Given the description of an element on the screen output the (x, y) to click on. 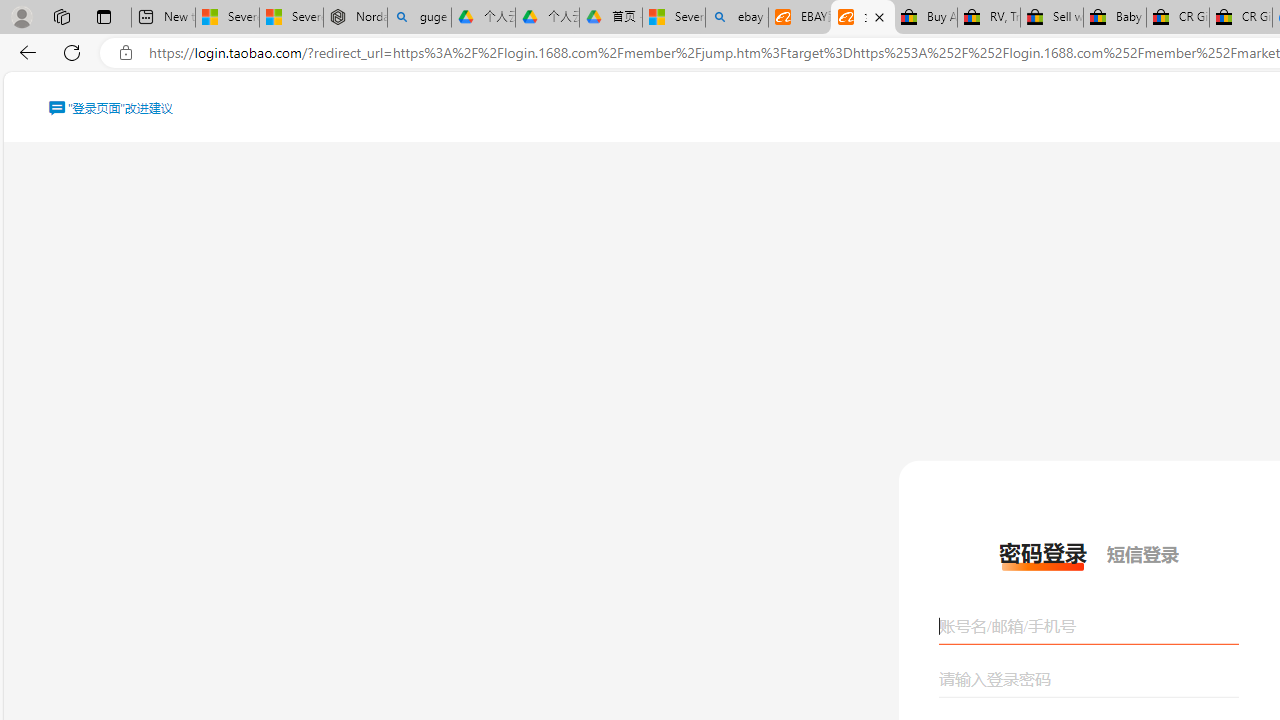
ebay - Search (736, 17)
Buy Auto Parts & Accessories | eBay (925, 17)
Sell worldwide with eBay (1051, 17)
Personal Profile (21, 16)
Close tab (879, 16)
Workspaces (61, 16)
View site information (125, 53)
Back (24, 52)
Tab actions menu (104, 16)
New tab (162, 17)
Nordace - Summer Adventures 2024 (354, 17)
